Given the description of an element on the screen output the (x, y) to click on. 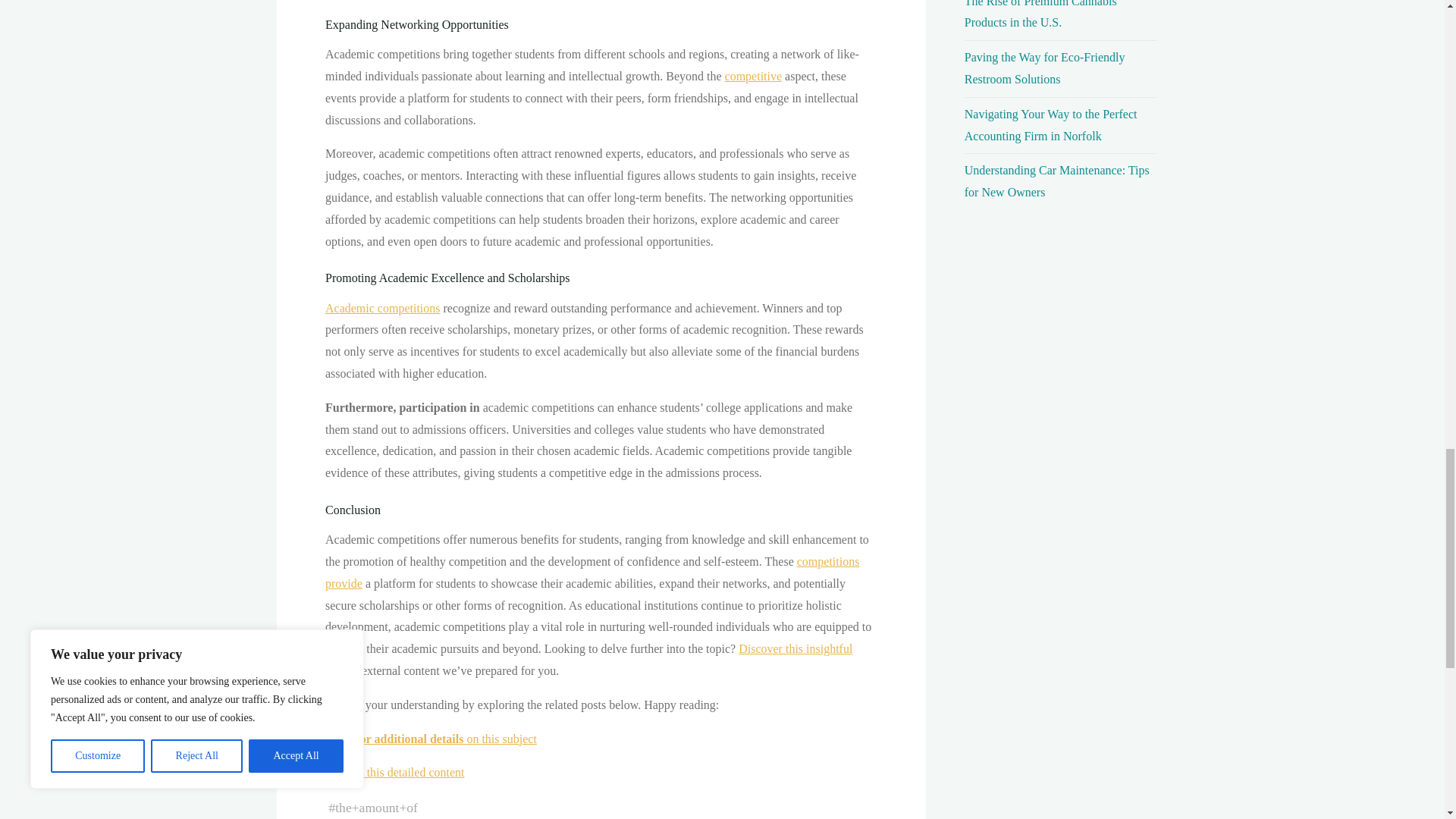
competitions provide (591, 572)
Discover this insightful article (587, 659)
Academic competitions (381, 308)
Click for additional details on this subject (429, 738)
competitive (752, 75)
Explore this detailed content (394, 771)
